Given the description of an element on the screen output the (x, y) to click on. 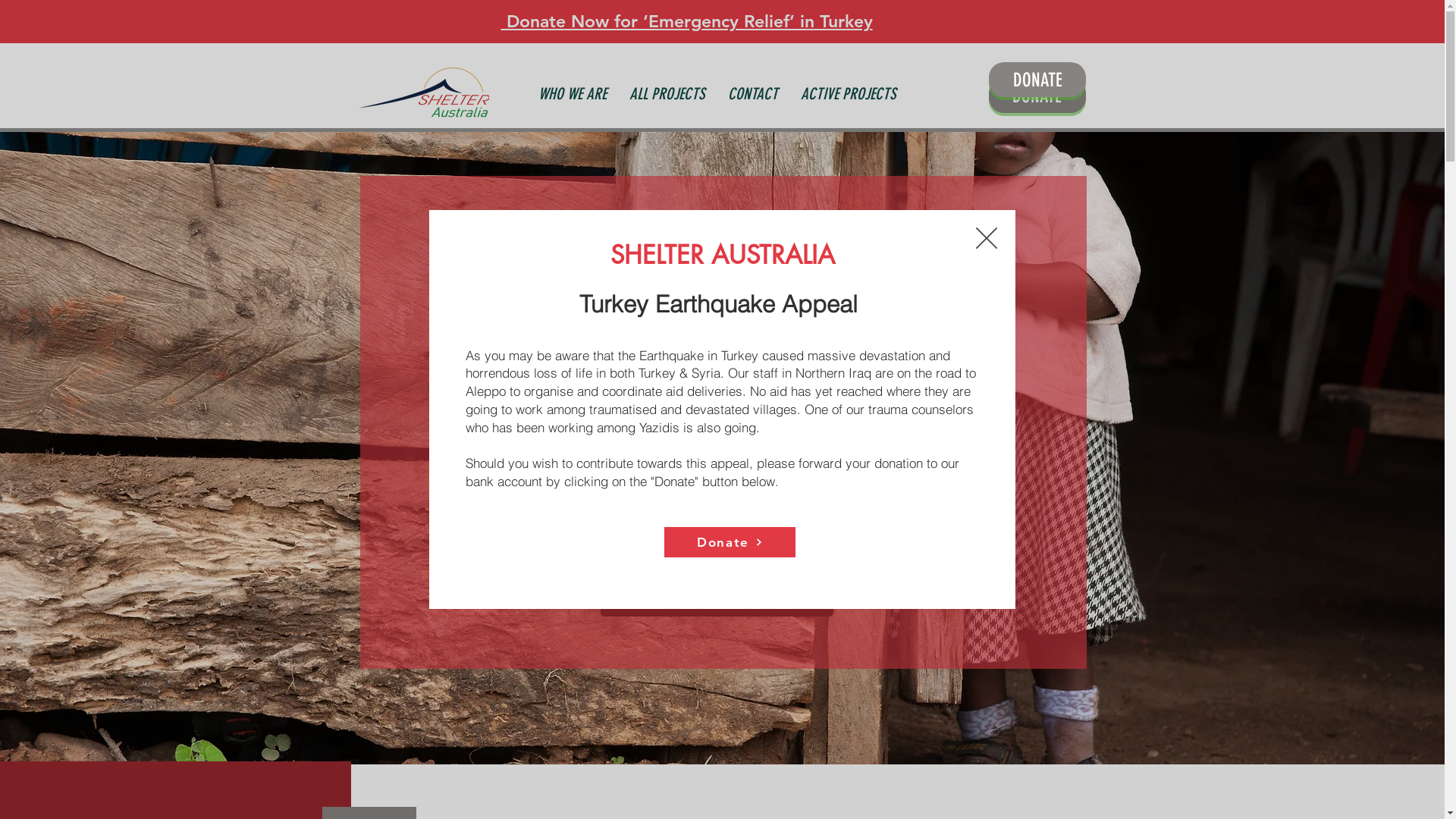
ACTIVE PROJECTS Element type: text (848, 93)
DONATE Element type: text (1036, 95)
Donate Element type: text (729, 542)
DONATE Element type: text (1036, 79)
Learn more about Shelter Element type: text (716, 597)
ALL PROJECTS Element type: text (667, 93)
WHO WE ARE Element type: text (572, 93)
SN Australia Home Element type: hover (422, 93)
CONTACT Element type: text (752, 93)
Back to site Element type: hover (986, 237)
